Given the description of an element on the screen output the (x, y) to click on. 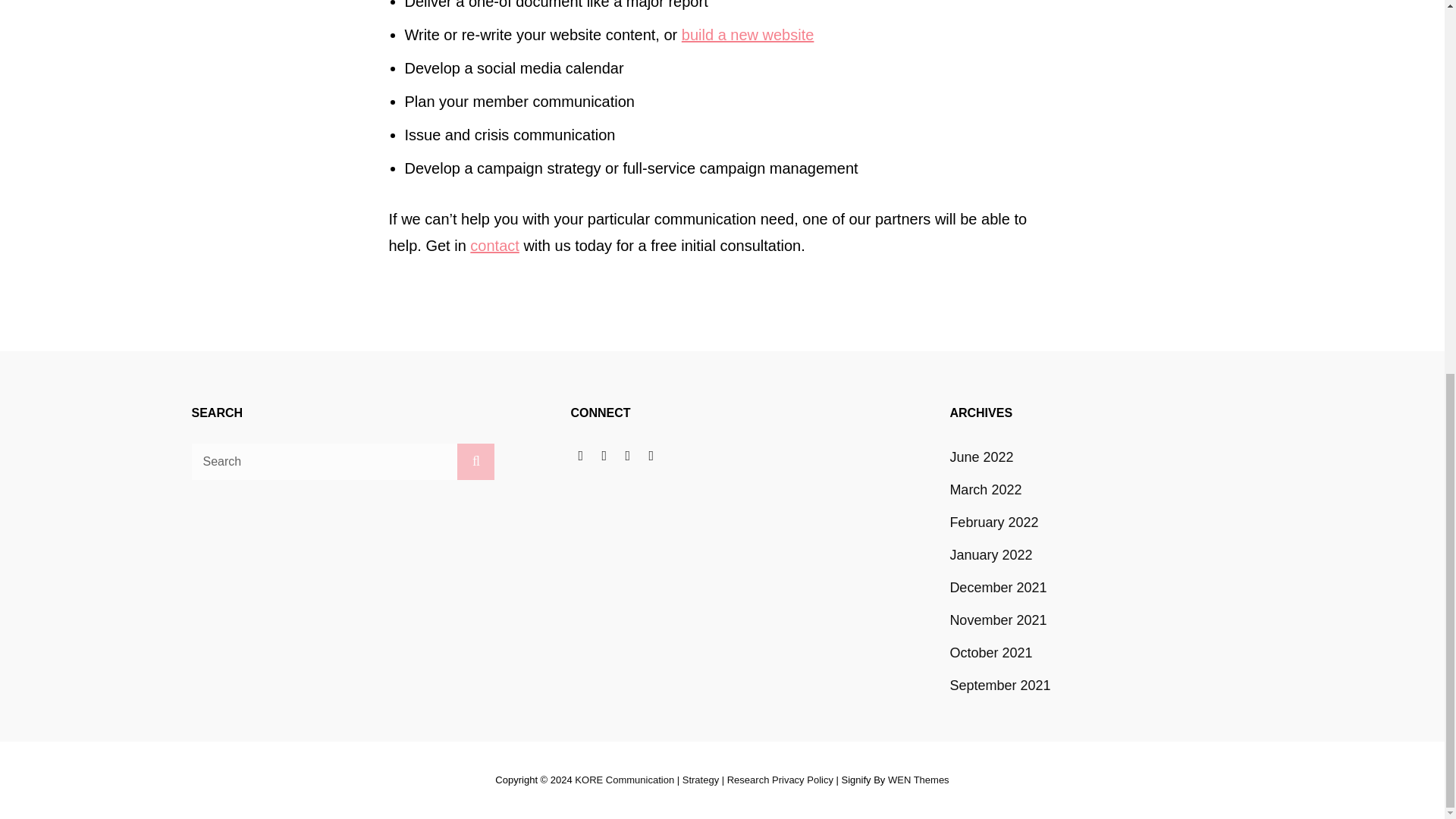
October 2021 (990, 652)
January 2022 (990, 554)
contact (494, 245)
Privacy Policy (801, 779)
June 2022 (981, 456)
February 2022 (993, 522)
September 2021 (999, 685)
March 2022 (985, 489)
December 2021 (997, 587)
build a new website (747, 34)
